Given the description of an element on the screen output the (x, y) to click on. 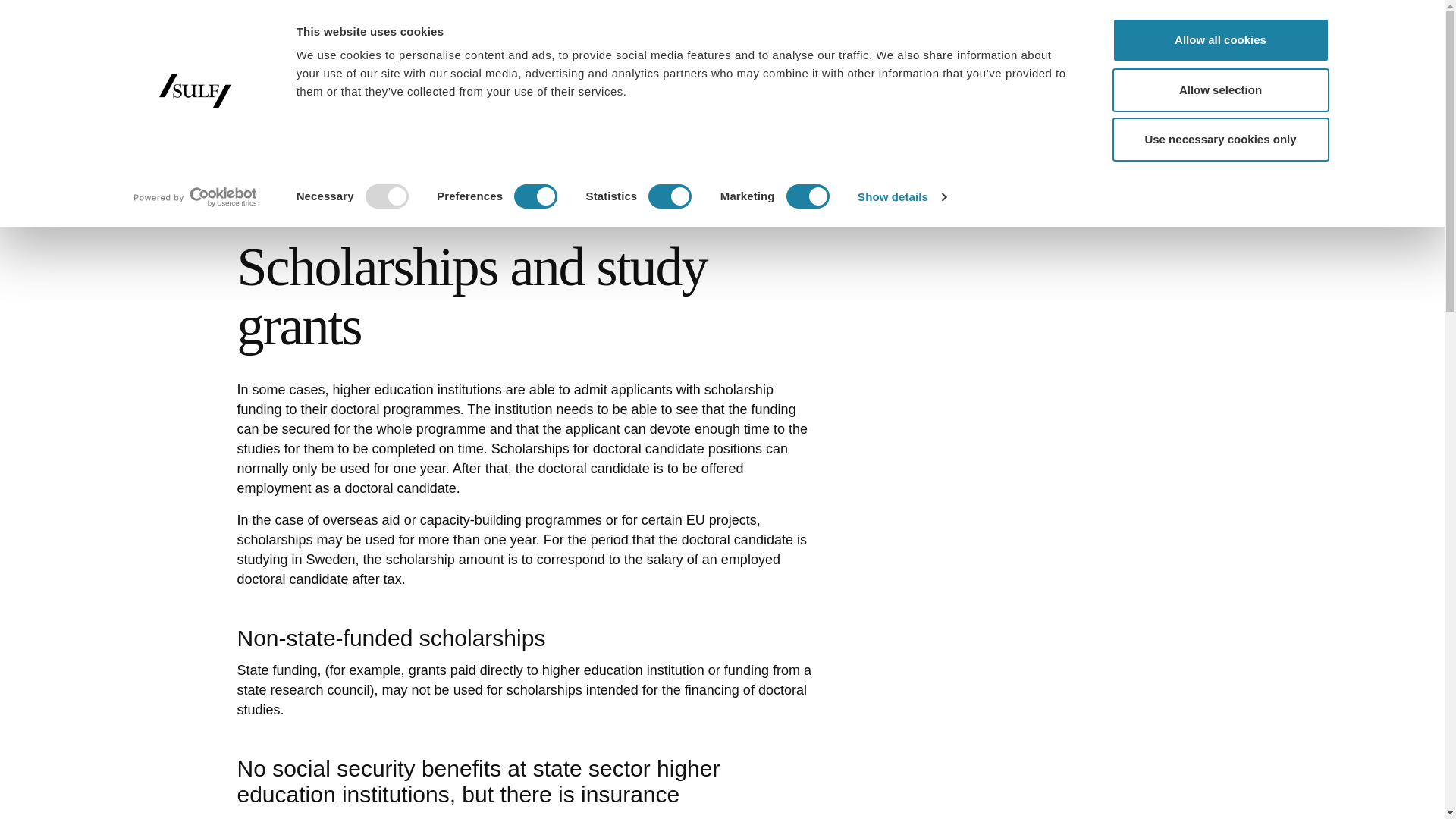
Elected (1079, 17)
Show details (900, 196)
Go to Work, salary and benefits. (341, 155)
SULF (308, 62)
Go to SULF. (249, 155)
Use necessary cookies only (1219, 139)
